Given the description of an element on the screen output the (x, y) to click on. 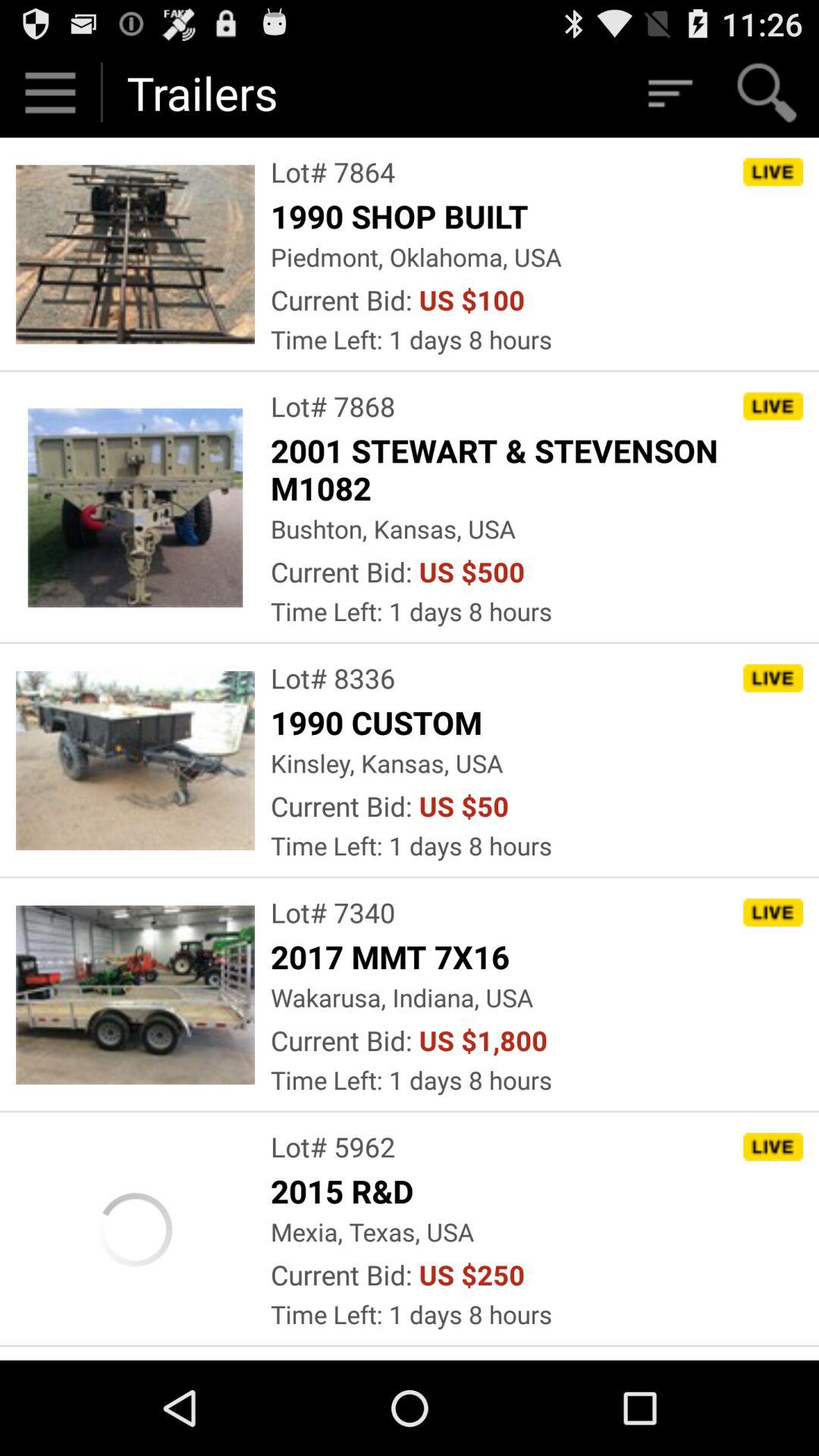
open the app below 1990 shop built  icon (415, 256)
